Given the description of an element on the screen output the (x, y) to click on. 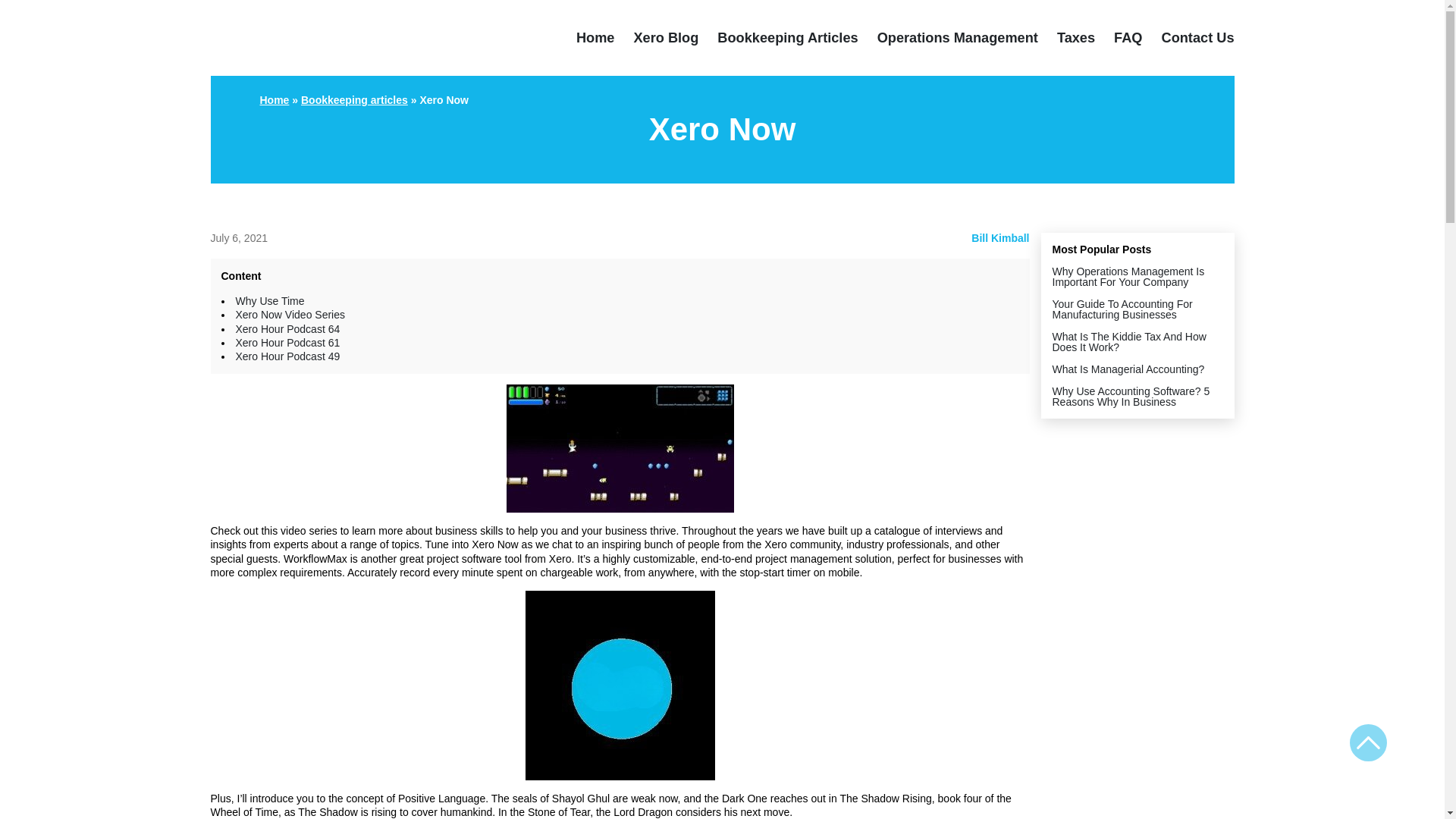
Xero Hour Podcast 61 (286, 342)
Contact Us (1197, 37)
What Is The Kiddie Tax And How Does It Work? (1129, 341)
Taxes (1075, 37)
Xero Now Video Series (288, 314)
Home (595, 37)
What Is Managerial Accounting? (1128, 369)
Why Operations Management Is Important For Your Company (1128, 276)
Bill Kimball (1000, 237)
Xero Hour Podcast 49 (286, 356)
Xero Hour Podcast 64 (286, 328)
Xero Blog (665, 37)
FAQ (1127, 37)
Why Use Time (269, 300)
Bookkeeping articles (354, 100)
